Given the description of an element on the screen output the (x, y) to click on. 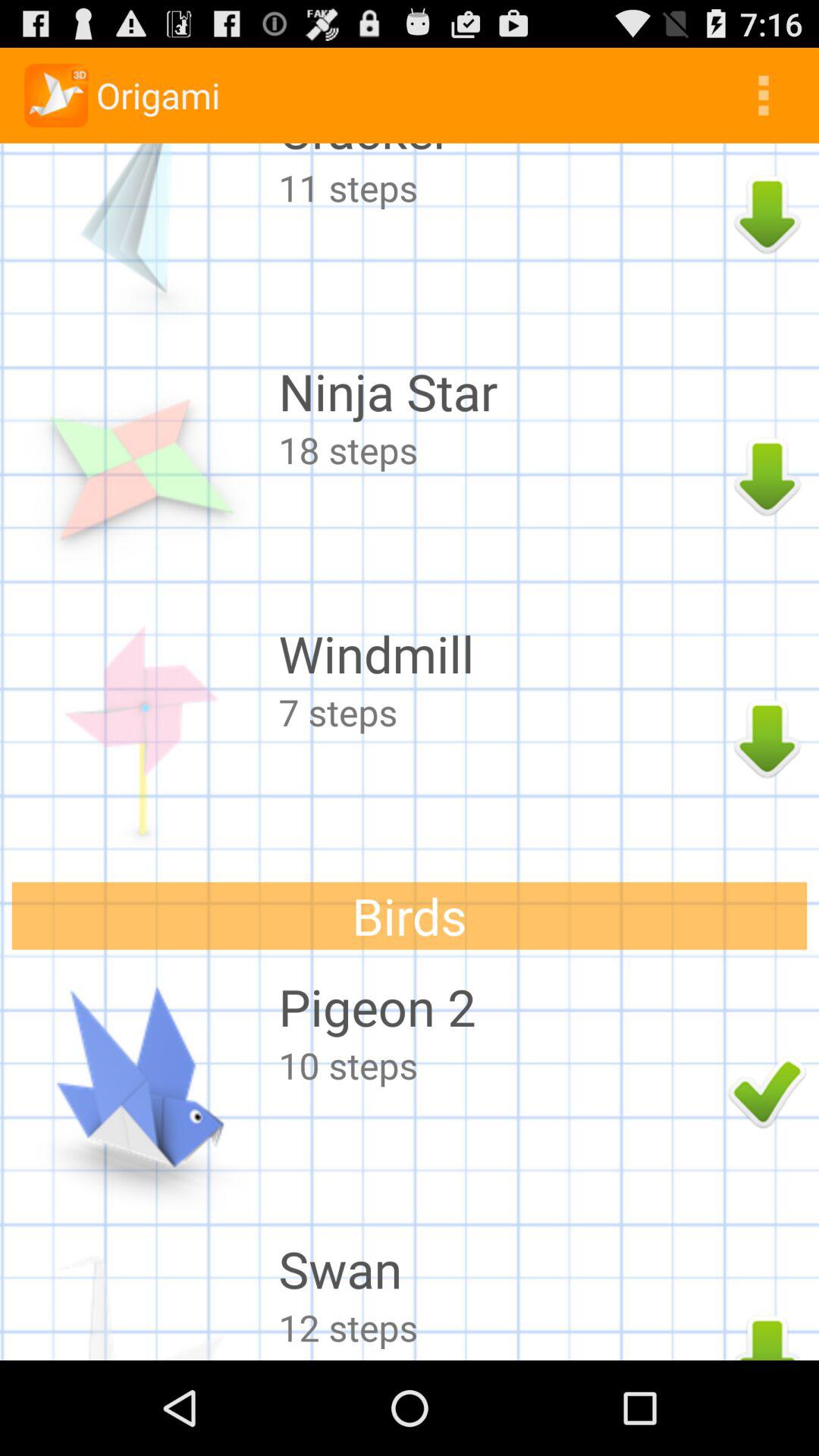
tap icon below the windmill (498, 711)
